Given the description of an element on the screen output the (x, y) to click on. 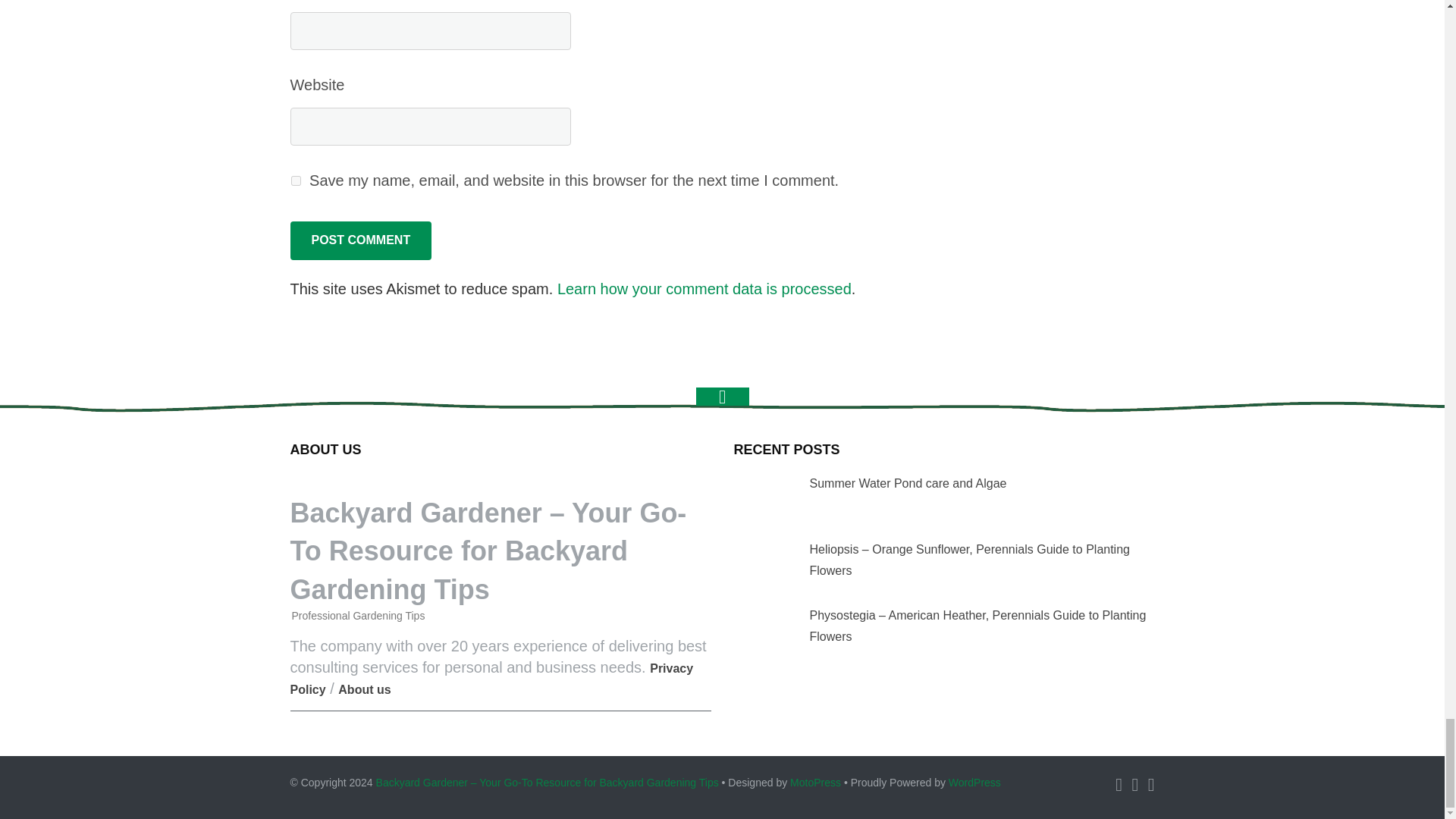
Summer Water Pond care and Algae (761, 498)
Premium WordPress Plugins and Themes (815, 782)
Post Comment (359, 240)
yes (296, 180)
